Given the description of an element on the screen output the (x, y) to click on. 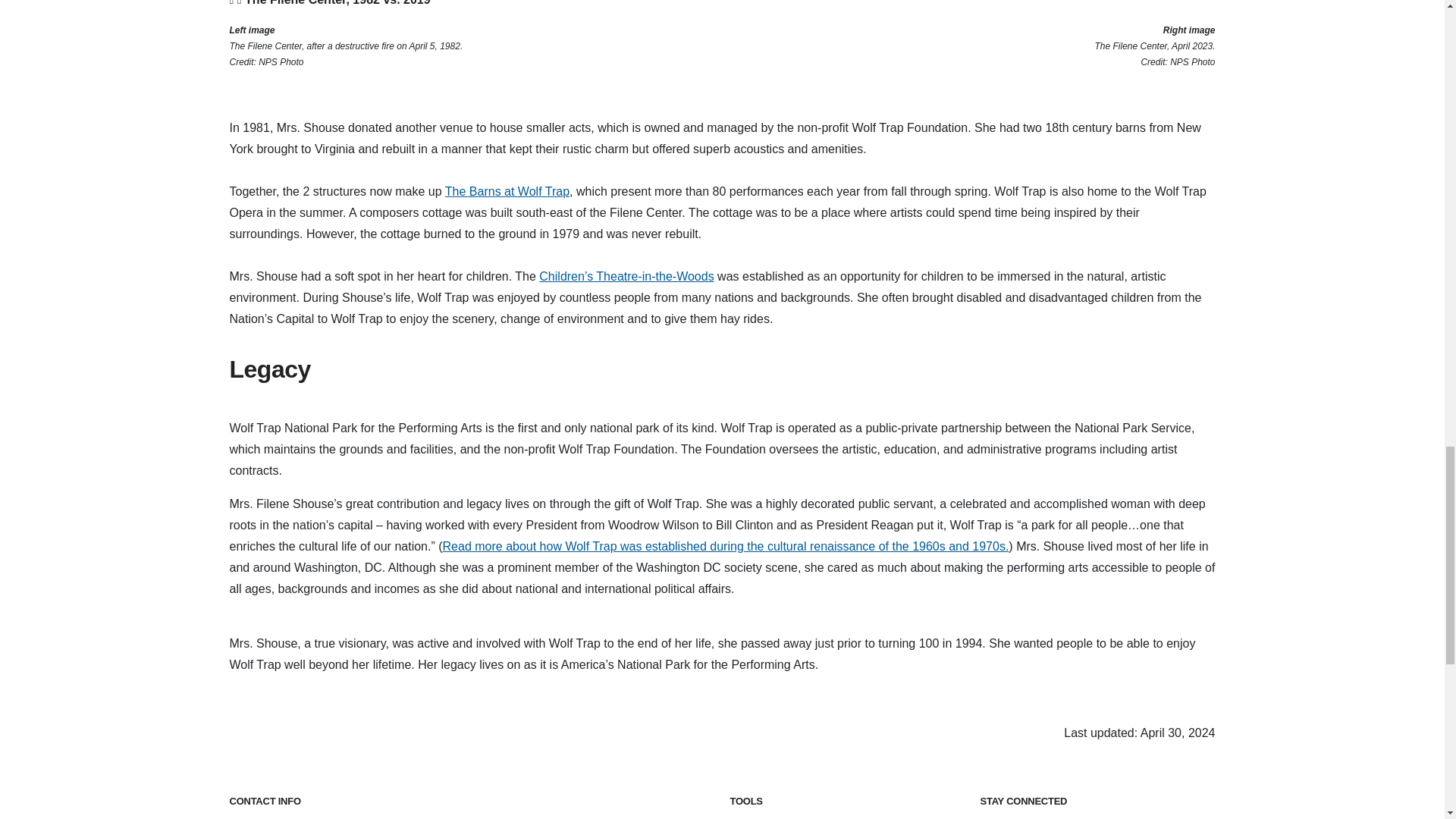
The Barns at Wolf Trap (507, 191)
